Given the description of an element on the screen output the (x, y) to click on. 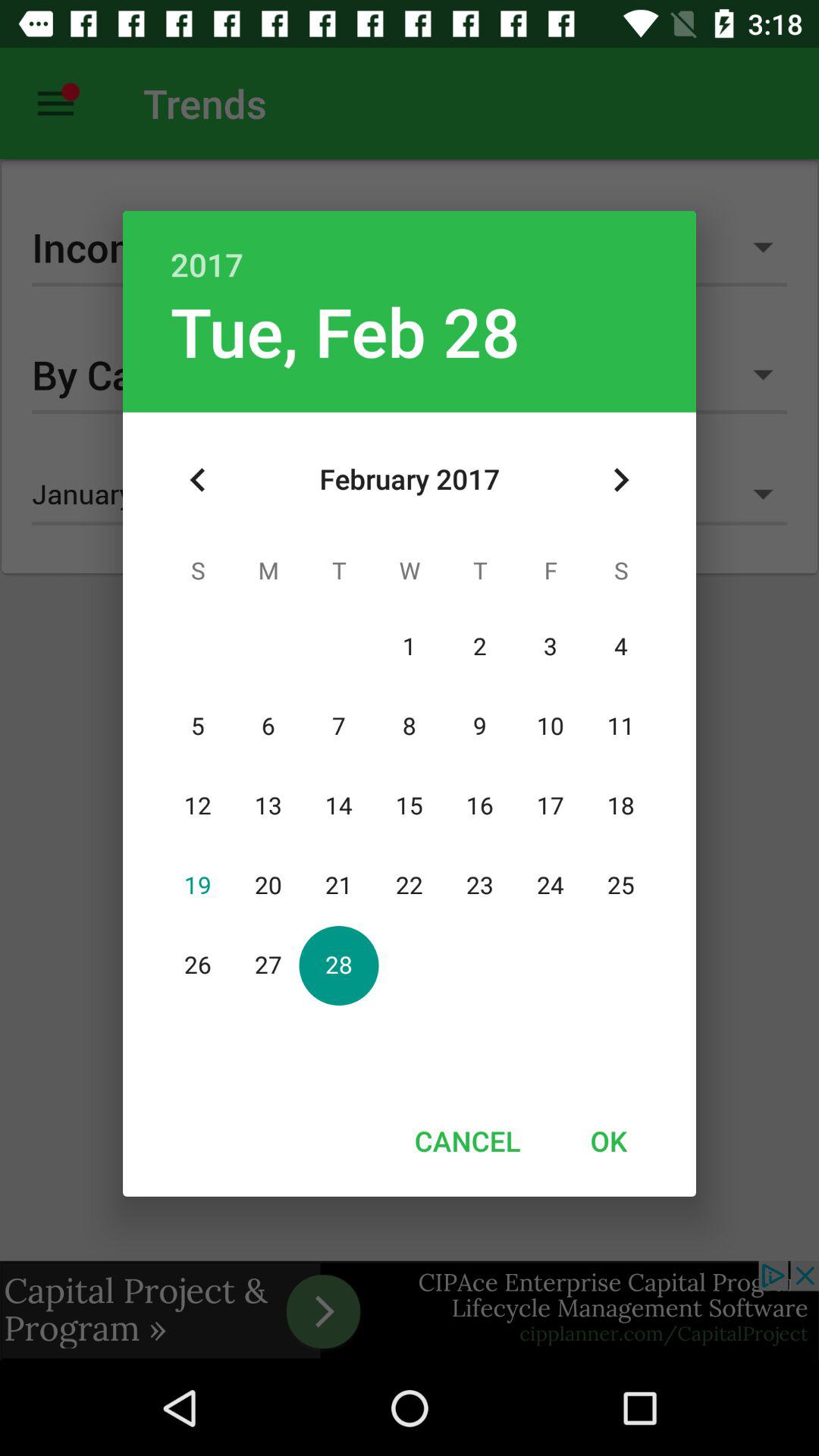
swipe until tue, feb 28 (345, 331)
